Given the description of an element on the screen output the (x, y) to click on. 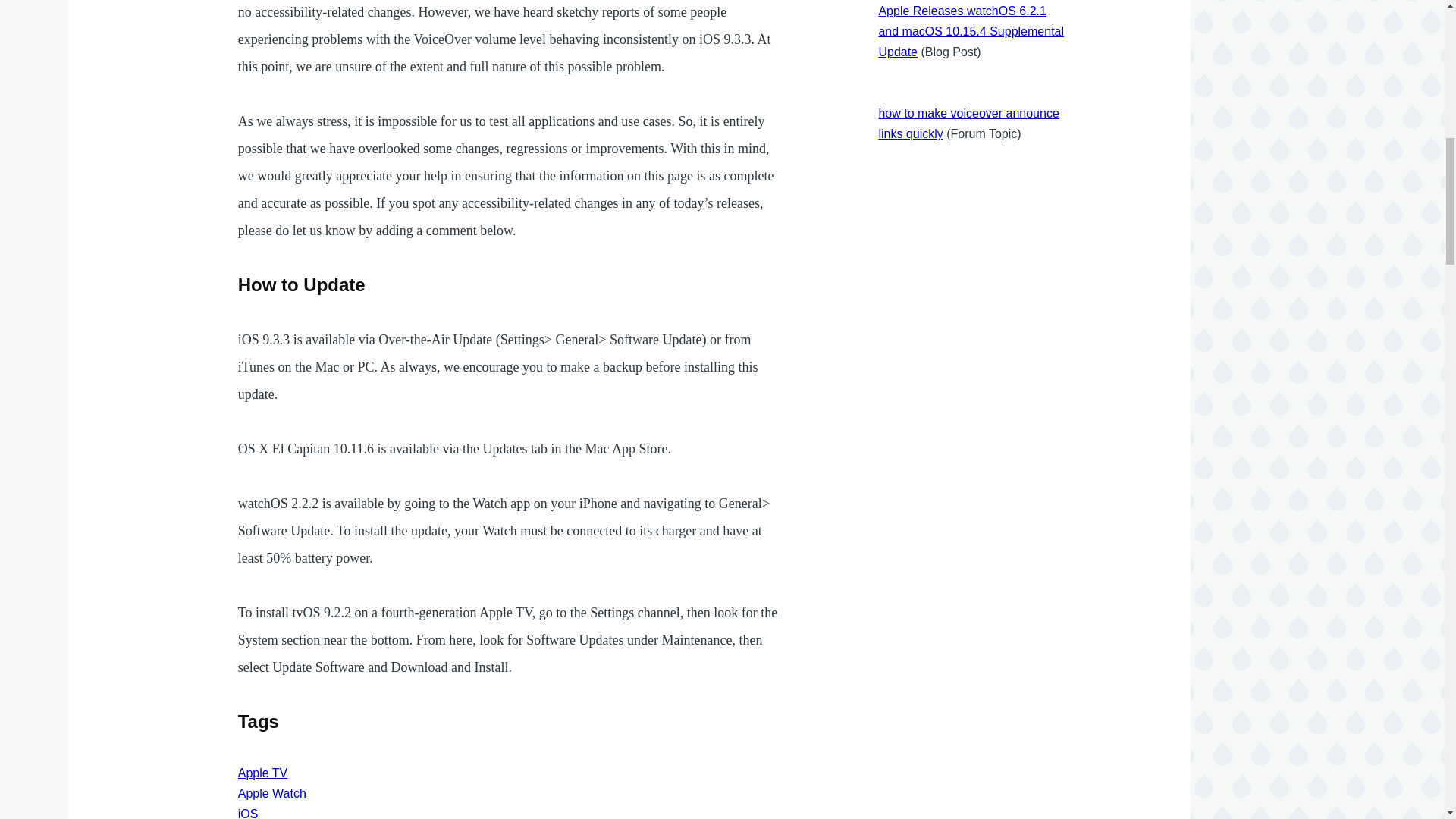
iOS (248, 813)
Apple Watch (271, 793)
Apple TV (263, 772)
